Given the description of an element on the screen output the (x, y) to click on. 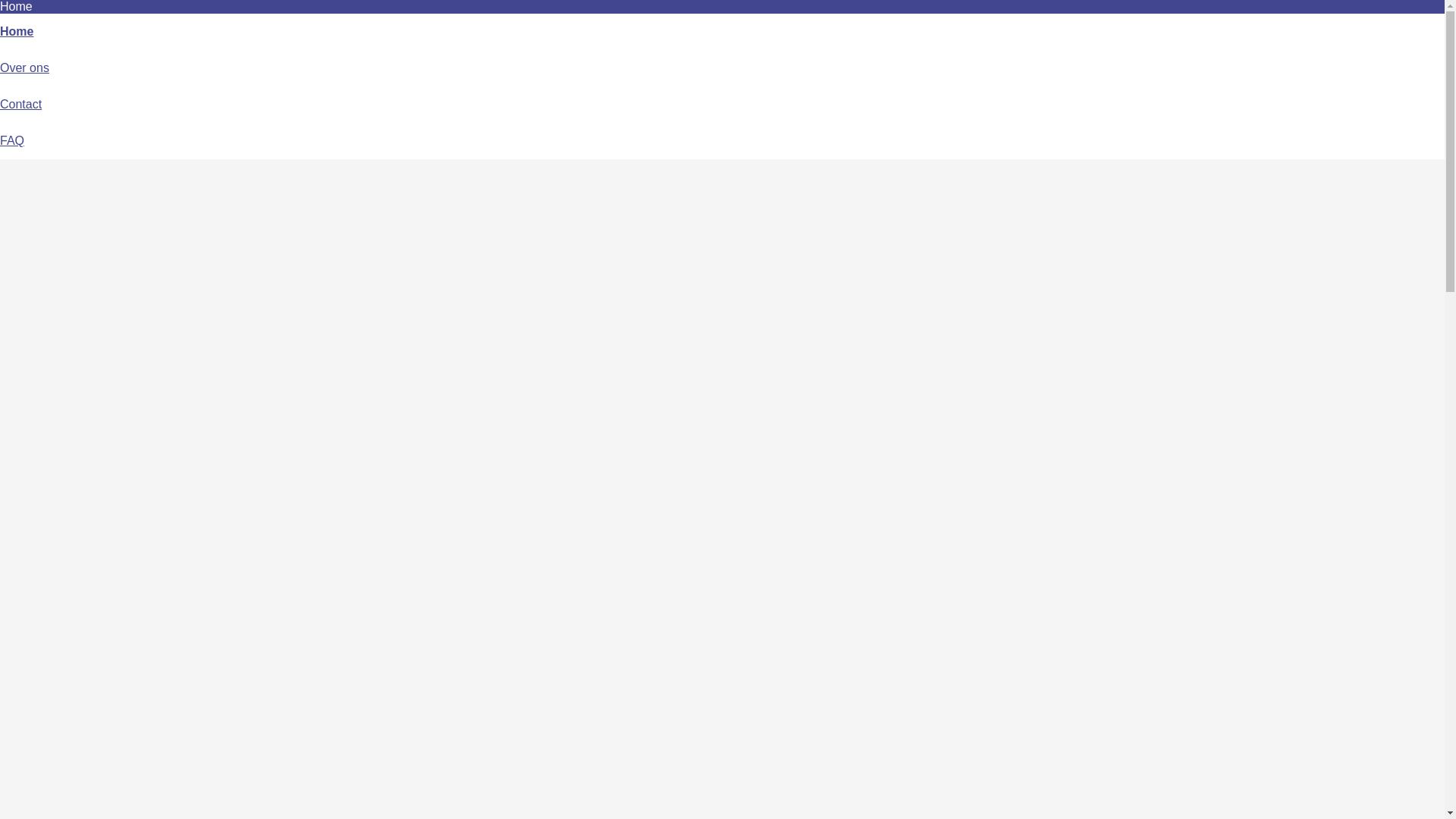
Contact Element type: text (20, 103)
Over ons Element type: text (24, 67)
Home Element type: text (16, 31)
FAQ Element type: text (12, 140)
